Given the description of an element on the screen output the (x, y) to click on. 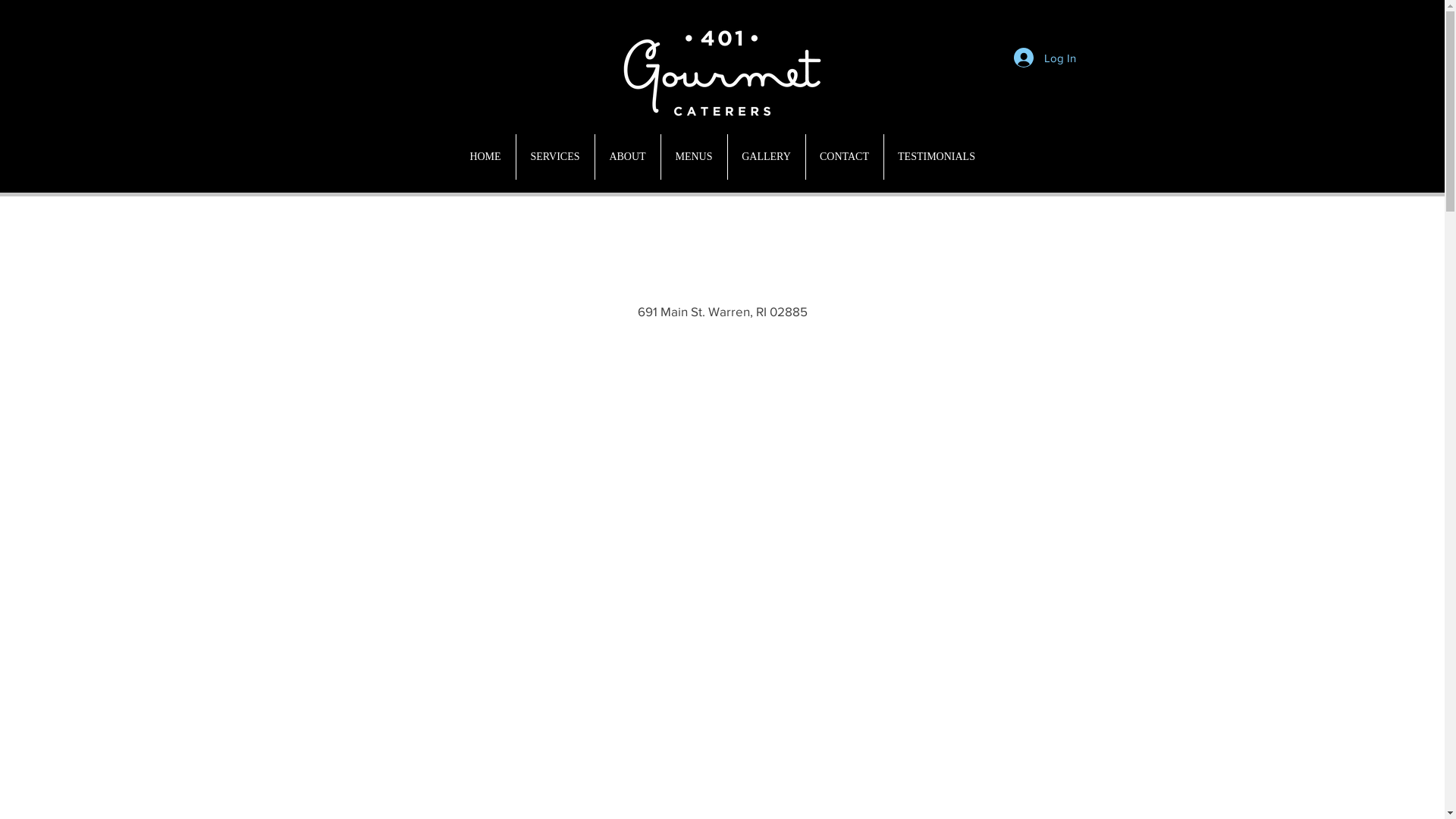
GALLERY Element type: text (766, 156)
SERVICES Element type: text (554, 156)
MENUS Element type: text (694, 156)
ABOUT Element type: text (626, 156)
HOME Element type: text (484, 156)
Log In Element type: text (1043, 57)
TESTIMONIALS Element type: text (936, 156)
CONTACT Element type: text (843, 156)
